Given the description of an element on the screen output the (x, y) to click on. 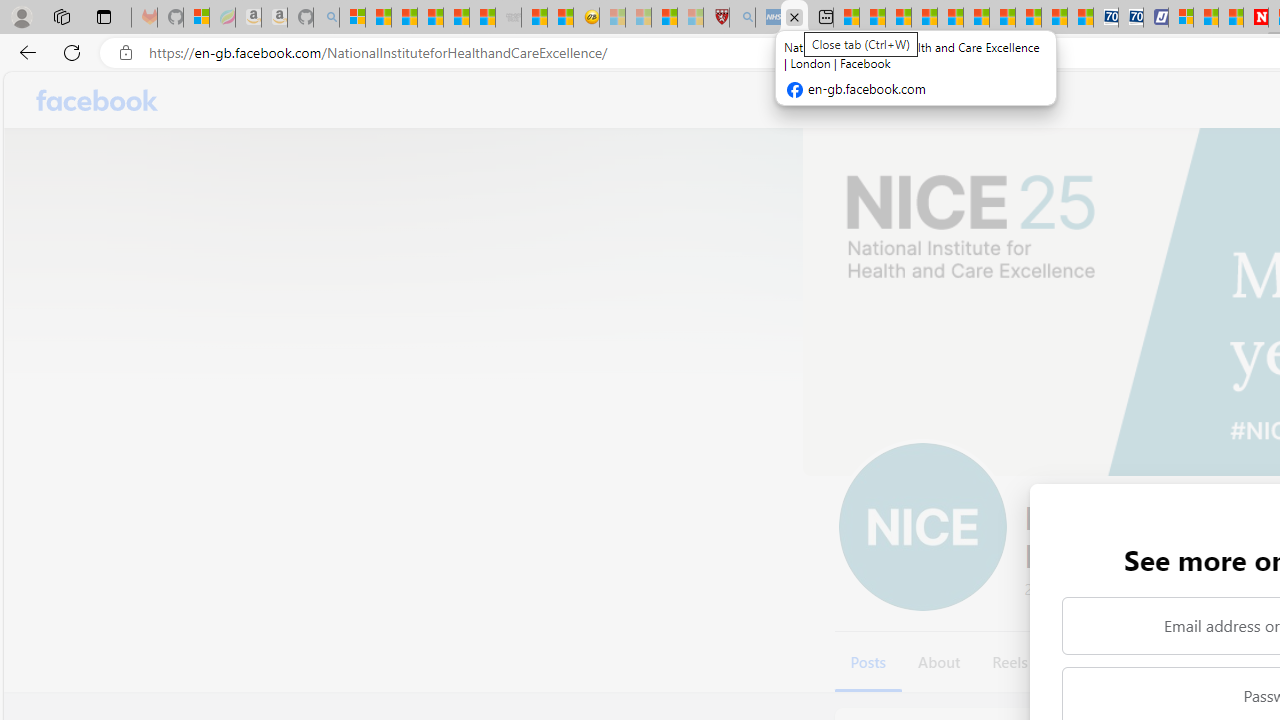
Climate Damage Becomes Too Severe To Reverse (923, 17)
Robert H. Shmerling, MD - Harvard Health (716, 17)
World - MSN (898, 17)
